Given the description of an element on the screen output the (x, y) to click on. 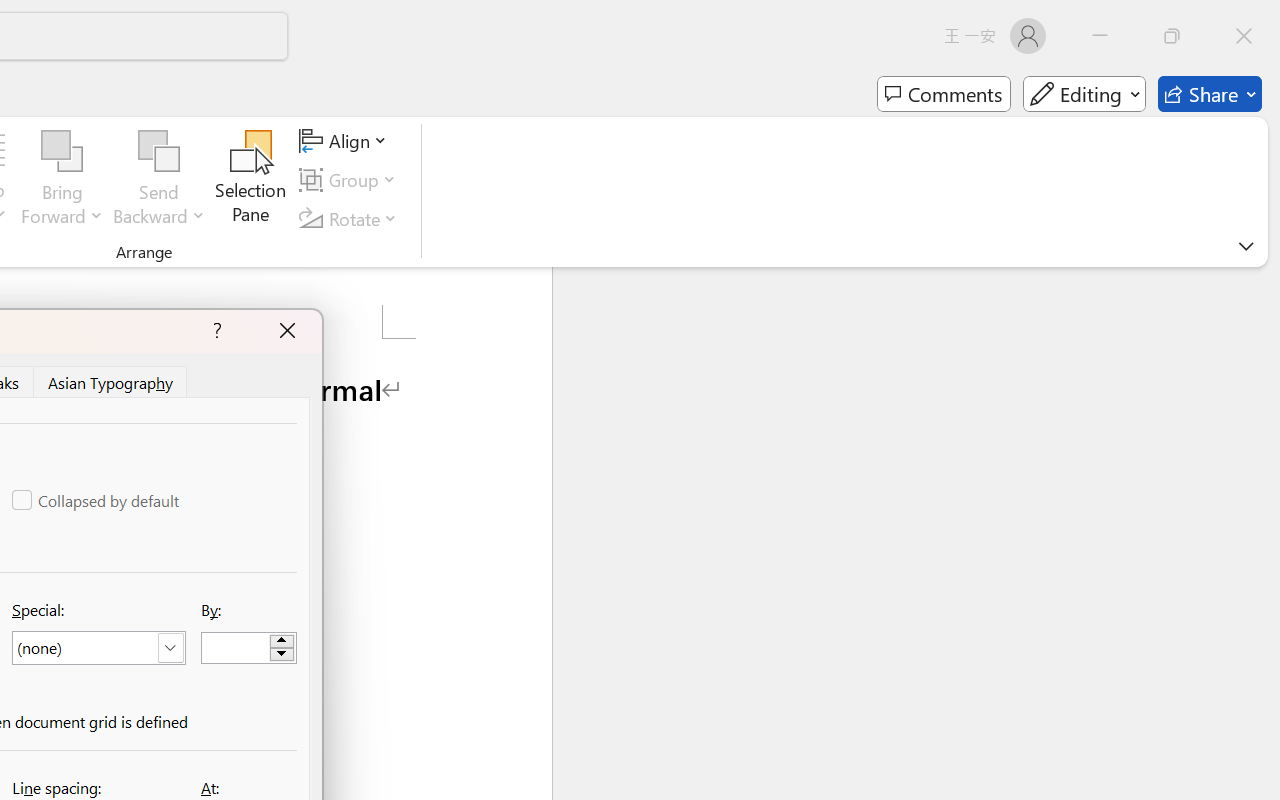
Selection Pane... (251, 179)
Group (351, 179)
Asian Typography (111, 381)
Special: (98, 647)
Bring Forward (62, 151)
Align (346, 141)
